Given the description of an element on the screen output the (x, y) to click on. 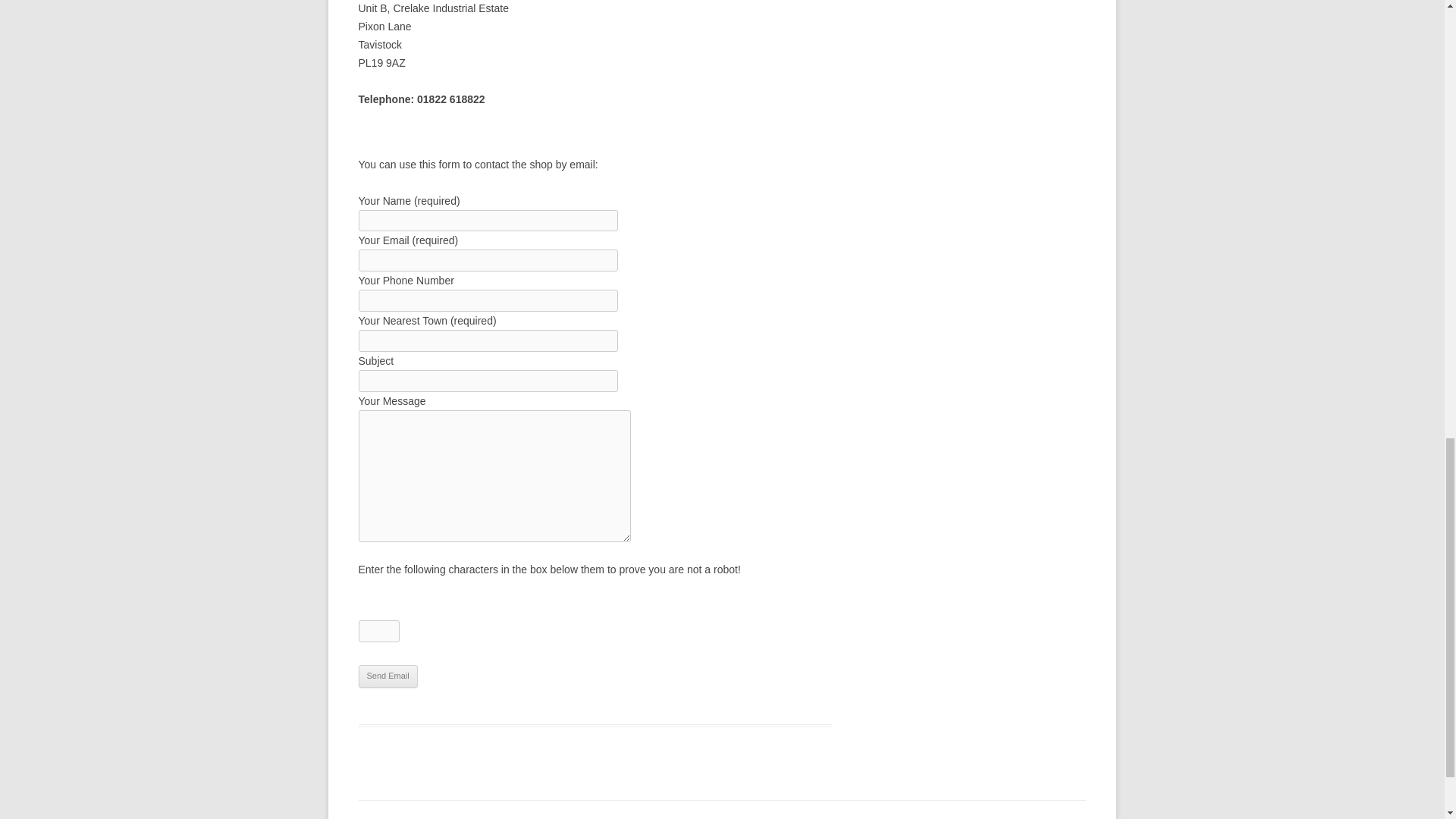
Send Email (387, 676)
Send Email (387, 676)
